Given the description of an element on the screen output the (x, y) to click on. 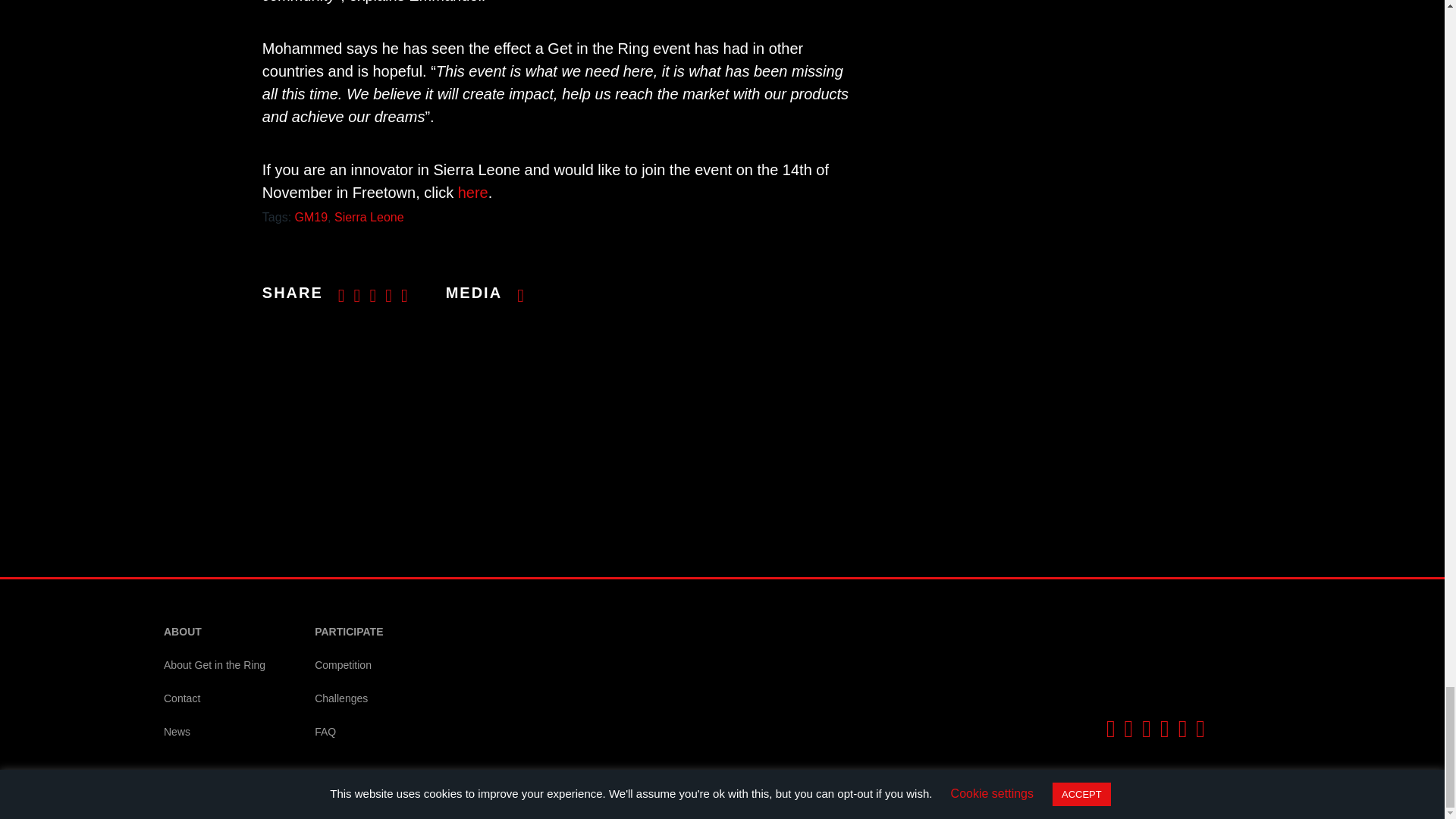
Sierra Leone (369, 216)
here (472, 192)
GM19 (312, 216)
